Given the description of an element on the screen output the (x, y) to click on. 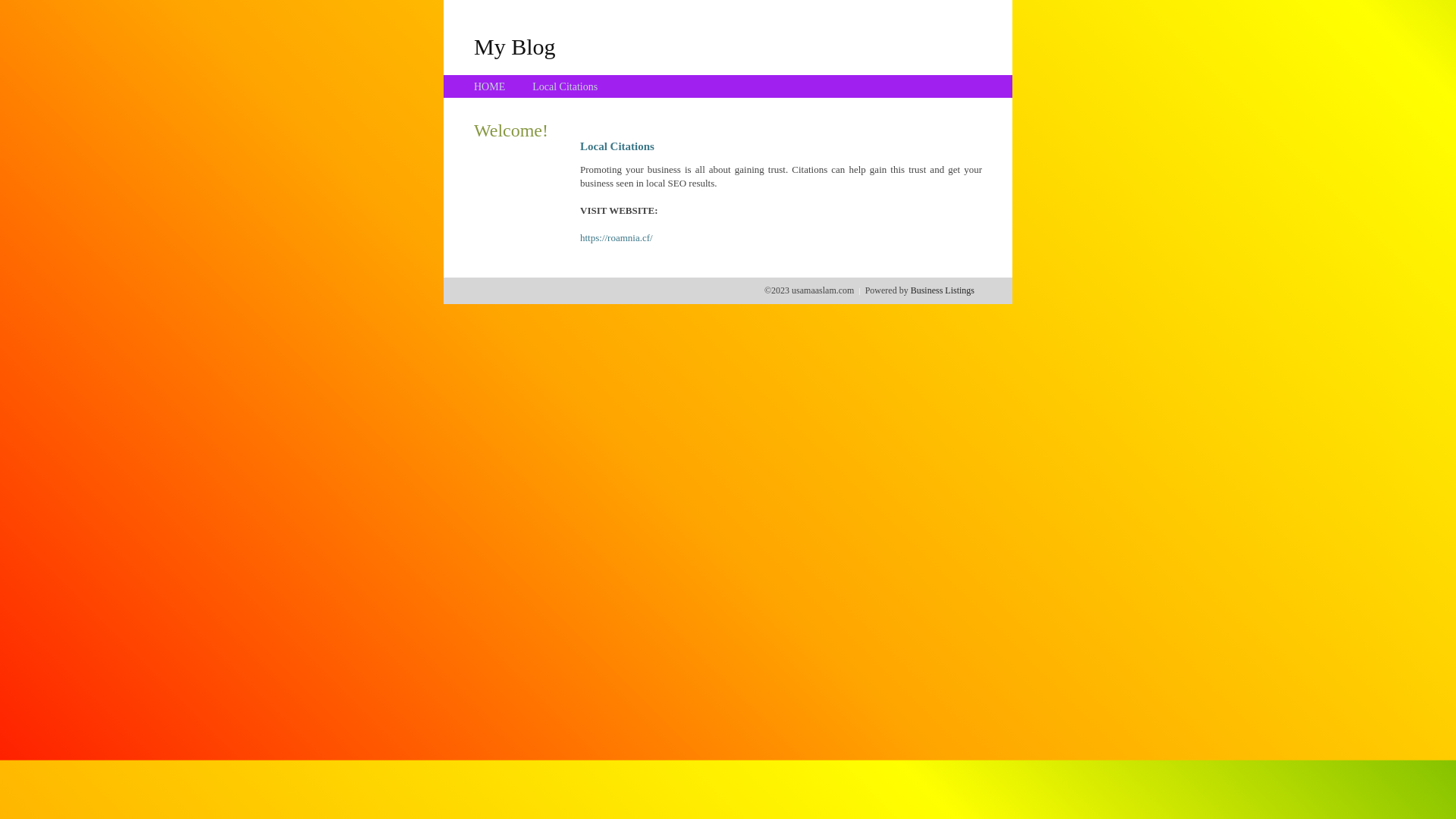
https://roamnia.cf/ Element type: text (616, 237)
My Blog Element type: text (514, 46)
HOME Element type: text (489, 86)
Local Citations Element type: text (564, 86)
Business Listings Element type: text (942, 290)
